Given the description of an element on the screen output the (x, y) to click on. 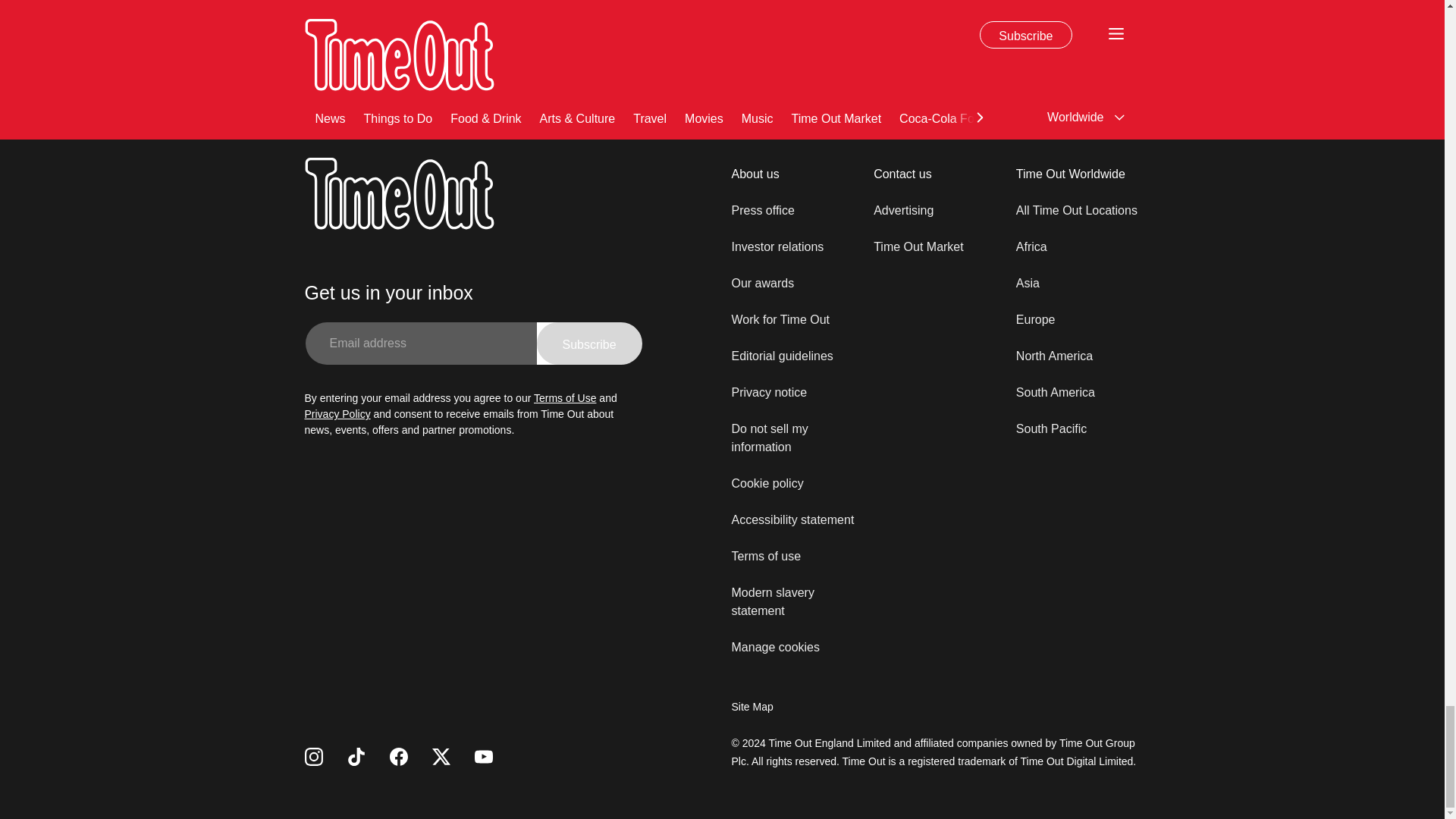
Subscribe (589, 343)
